Given the description of an element on the screen output the (x, y) to click on. 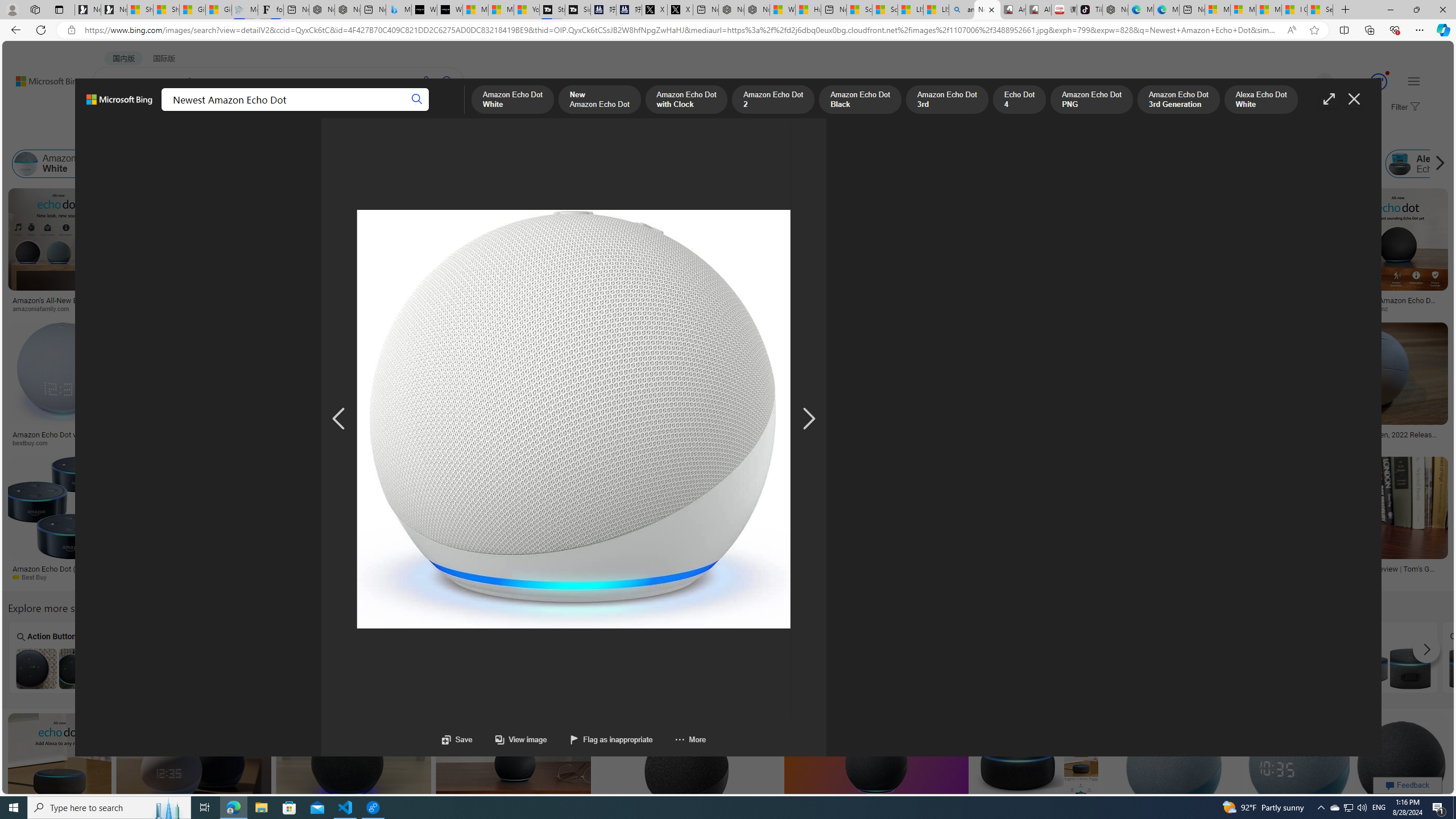
Amazon Echo Smart Speaker (1327, 163)
VIDEOS (260, 111)
Amazon Echo Dot White (25, 163)
People (295, 135)
Ausdroid (965, 576)
Class: medal-svg-animation (1378, 81)
Image result for Newest Amazon Echo Dot (1401, 764)
mobi-me.net (1110, 576)
Amazon Echo Dot Sales Chart (1285, 668)
